Given the description of an element on the screen output the (x, y) to click on. 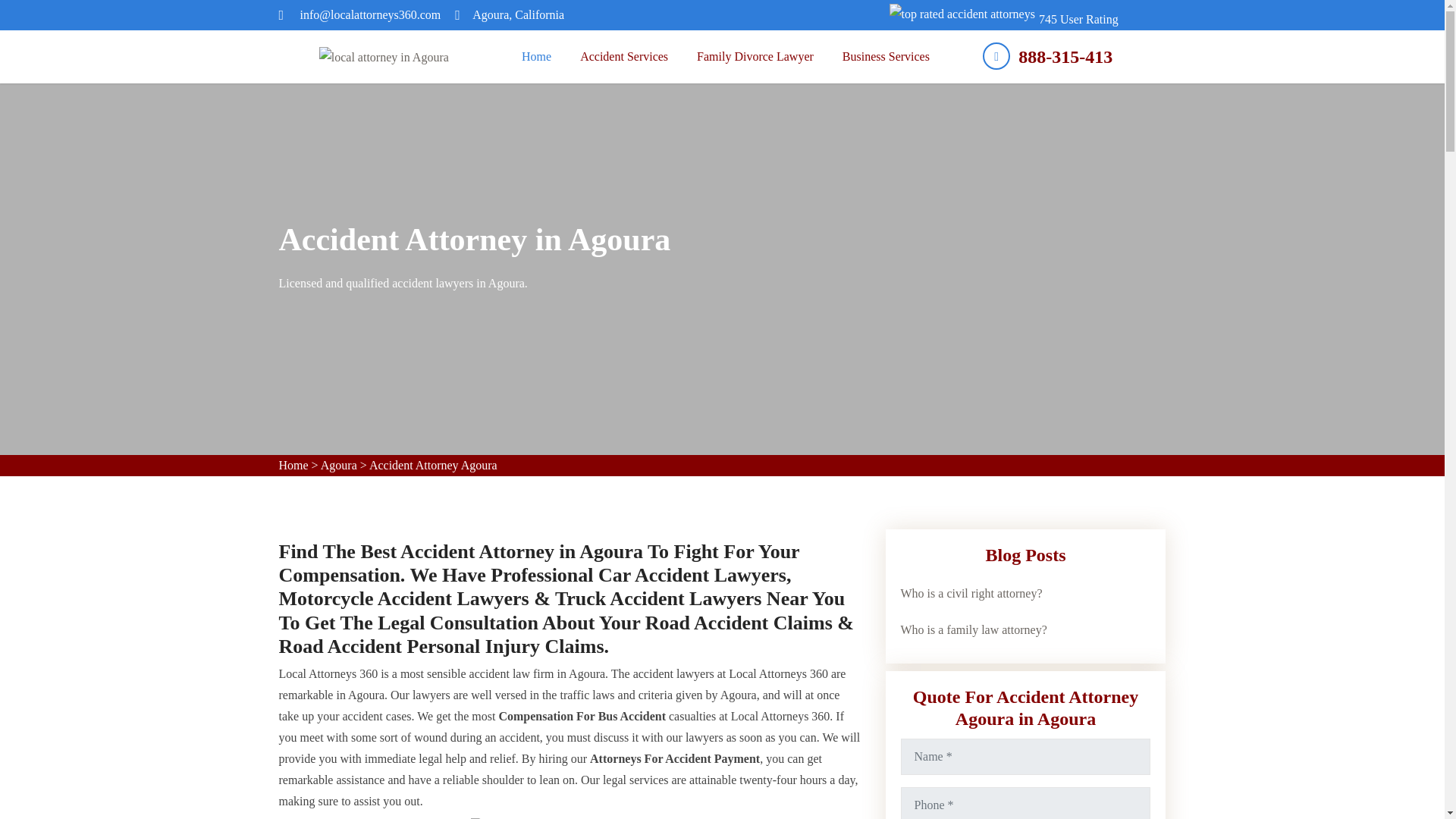
888-315-413 (1047, 56)
Who is a family law attorney? (973, 629)
Business Services (885, 56)
Home (536, 56)
Accident Services (624, 56)
Accident Attorney Agoura (433, 464)
Agoura (338, 464)
Family Divorce Lawyer (755, 56)
Logo (383, 56)
Who is a civil right attorney? (971, 593)
